Given the description of an element on the screen output the (x, y) to click on. 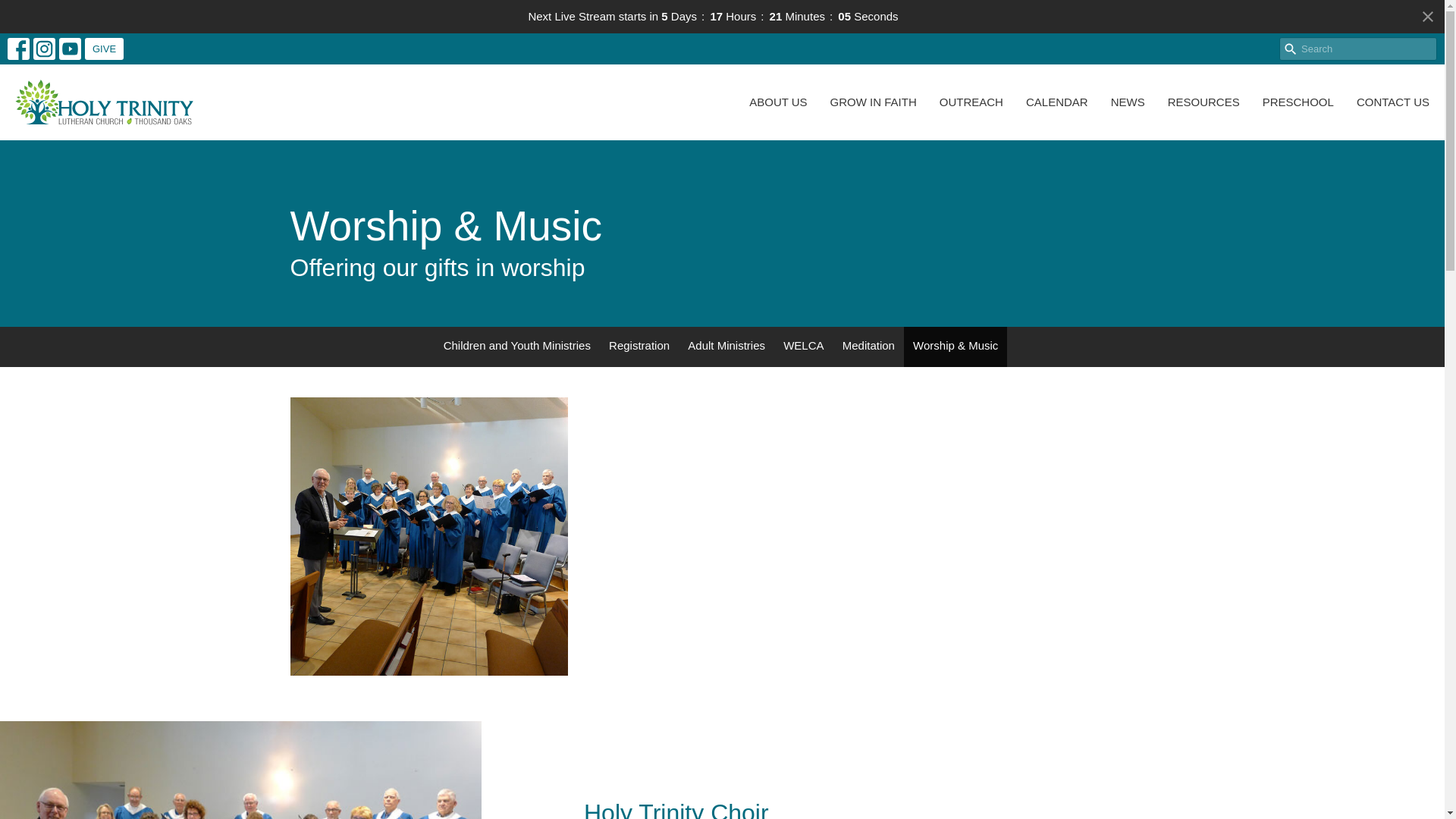
CALENDAR (1056, 101)
GROW IN FAITH (873, 101)
GIVE (103, 48)
Meditation (868, 346)
Adult Ministries (726, 346)
CONTACT US (1392, 101)
OUTREACH (971, 101)
WELCA (803, 346)
Registration (638, 346)
RESOURCES (1203, 101)
PRESCHOOL (1297, 101)
Children and Youth Ministries (516, 346)
NEWS (1127, 101)
ABOUT US (777, 101)
